Given the description of an element on the screen output the (x, y) to click on. 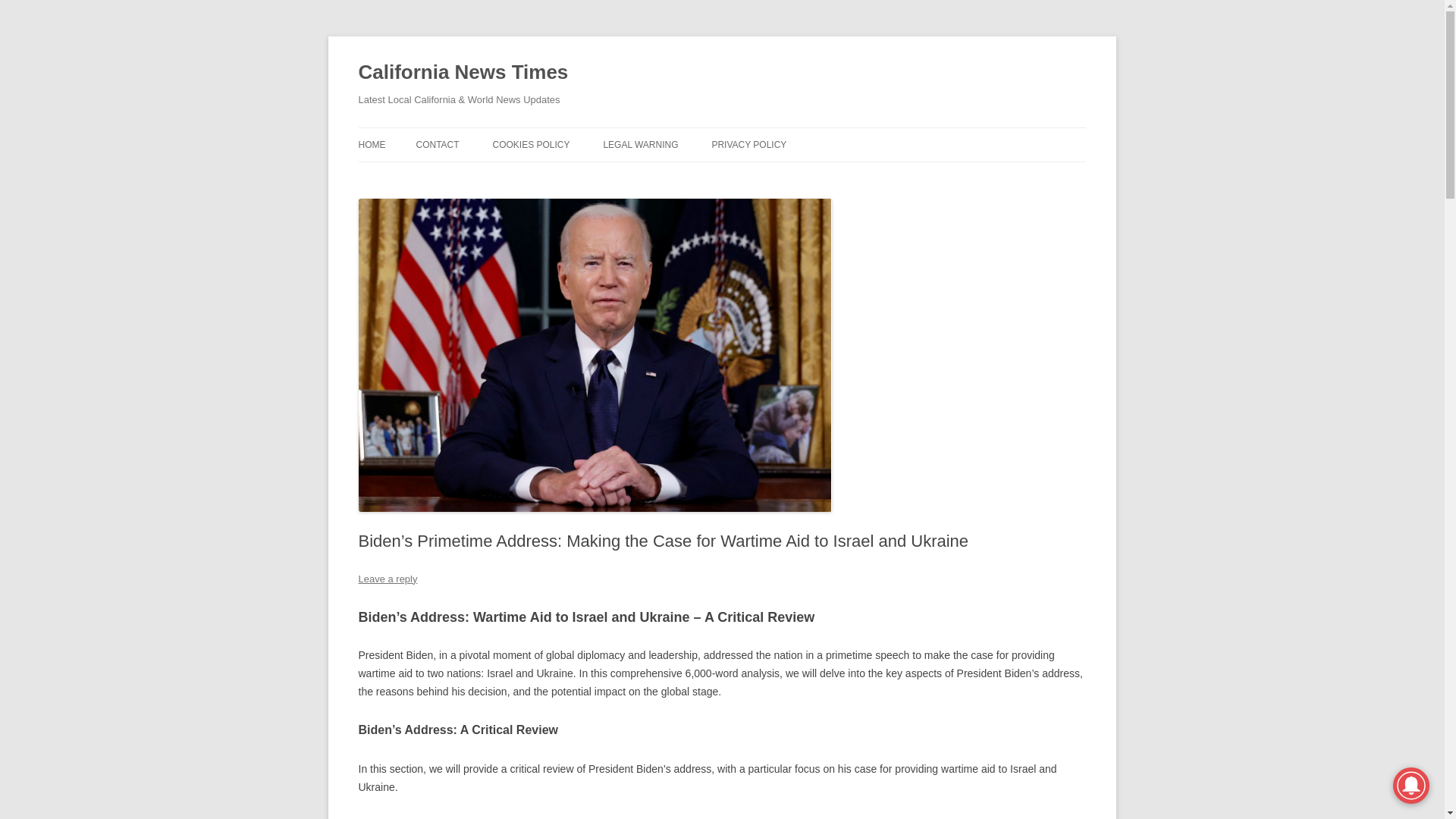
Leave a reply (387, 578)
PRIVACY POLICY (748, 144)
COOKIES POLICY (530, 144)
California News Times (462, 72)
CONTACT (436, 144)
LEGAL WARNING (640, 144)
